Given the description of an element on the screen output the (x, y) to click on. 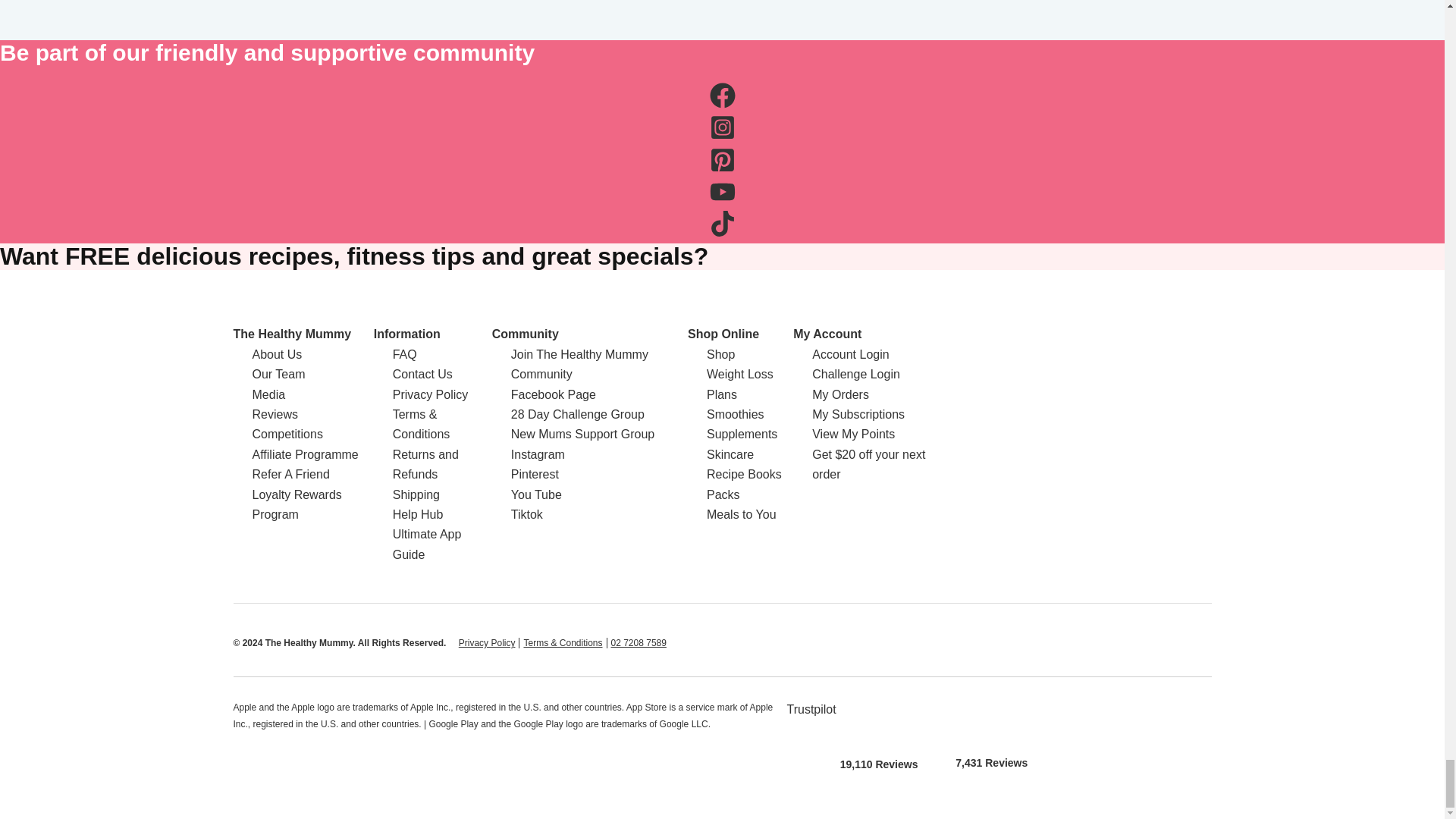
Join Our Affiliate Programme (304, 454)
download on google play (991, 717)
The Healthy Mummy (292, 333)
download on apple (879, 719)
Privacy Policy (486, 643)
